Given the description of an element on the screen output the (x, y) to click on. 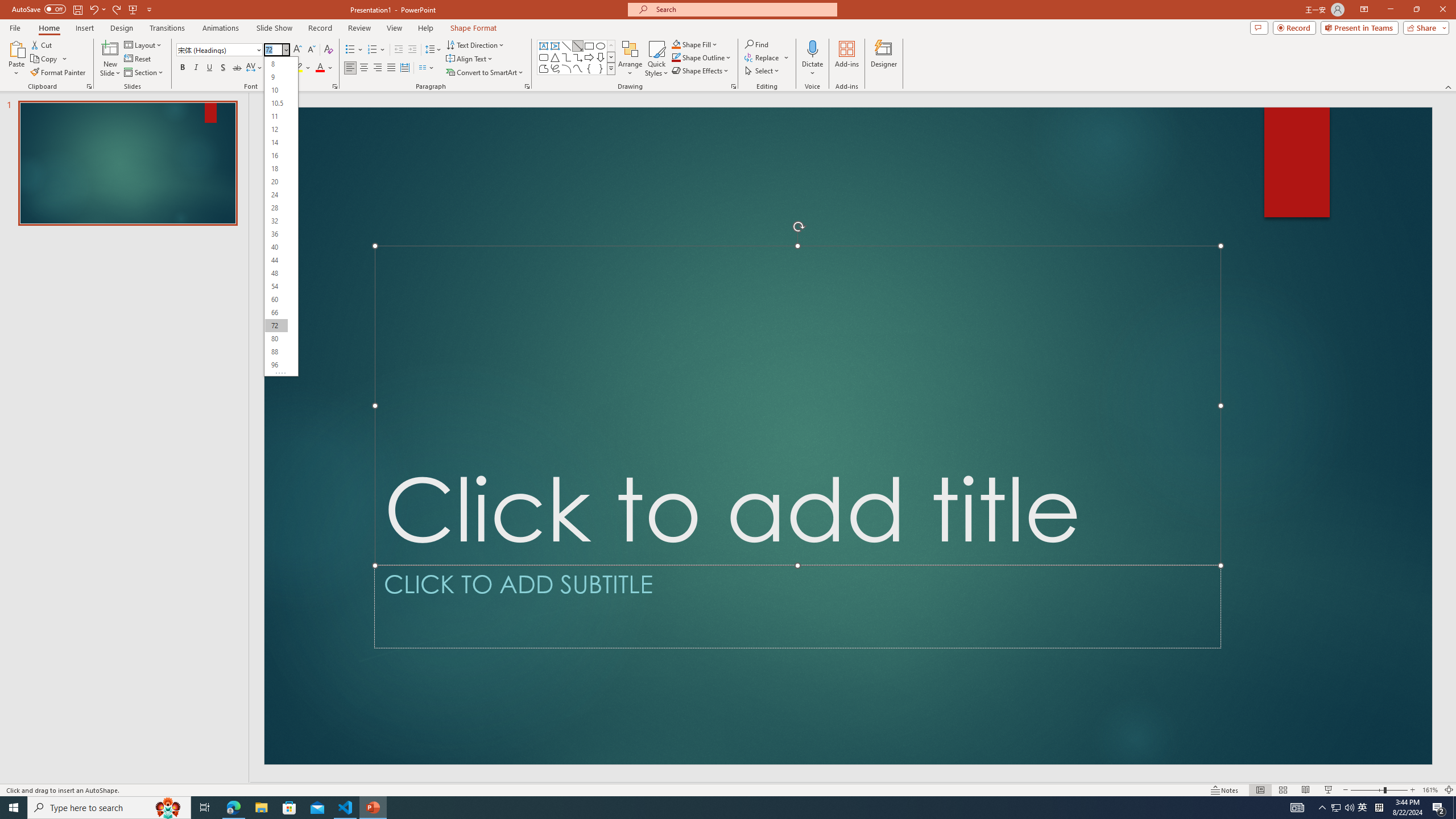
40 (276, 246)
80 (276, 338)
